Given the description of an element on the screen output the (x, y) to click on. 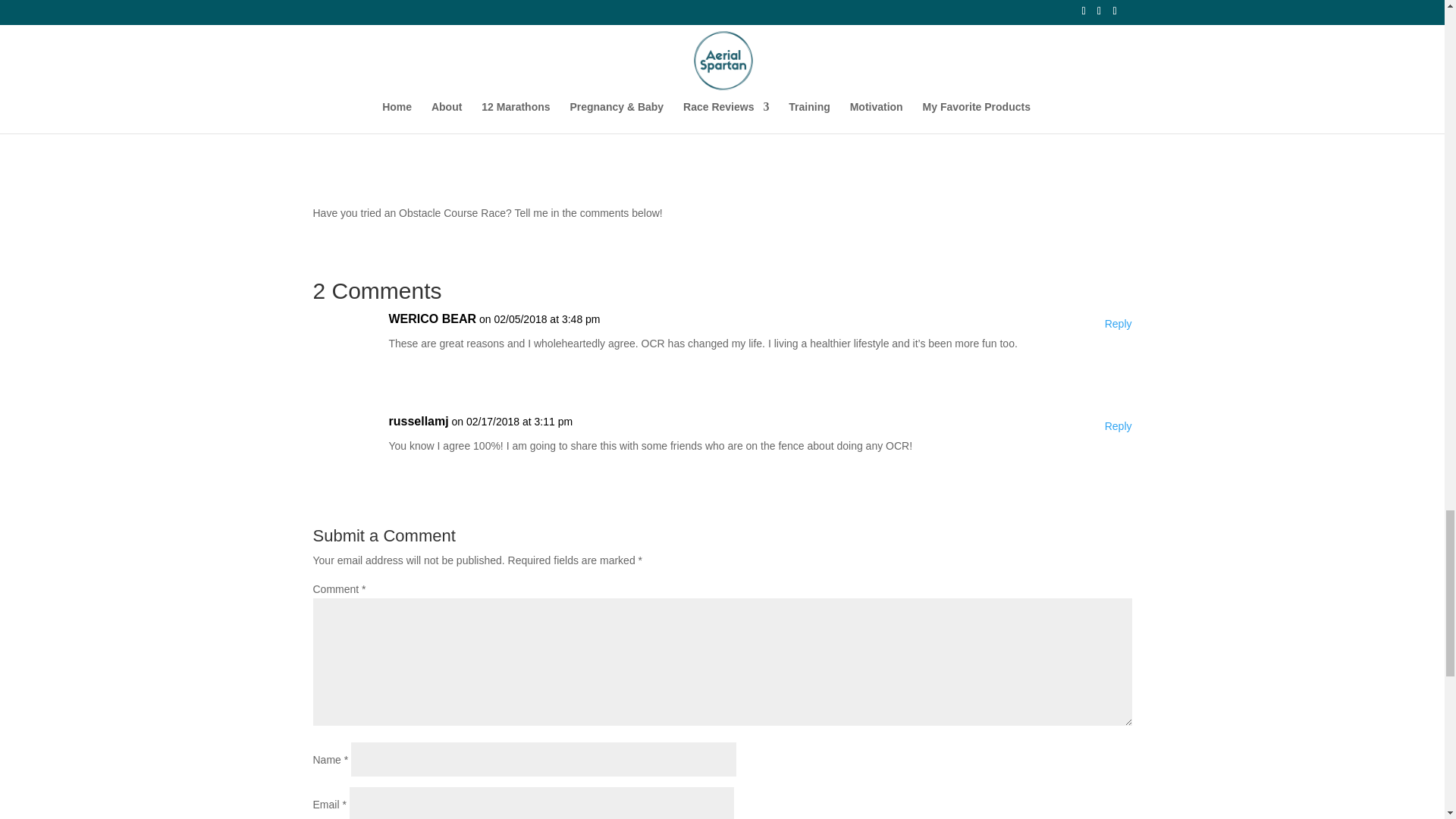
Reply (1118, 324)
russellamj (418, 421)
Reply (1118, 426)
WERICO BEAR (432, 319)
